Given the description of an element on the screen output the (x, y) to click on. 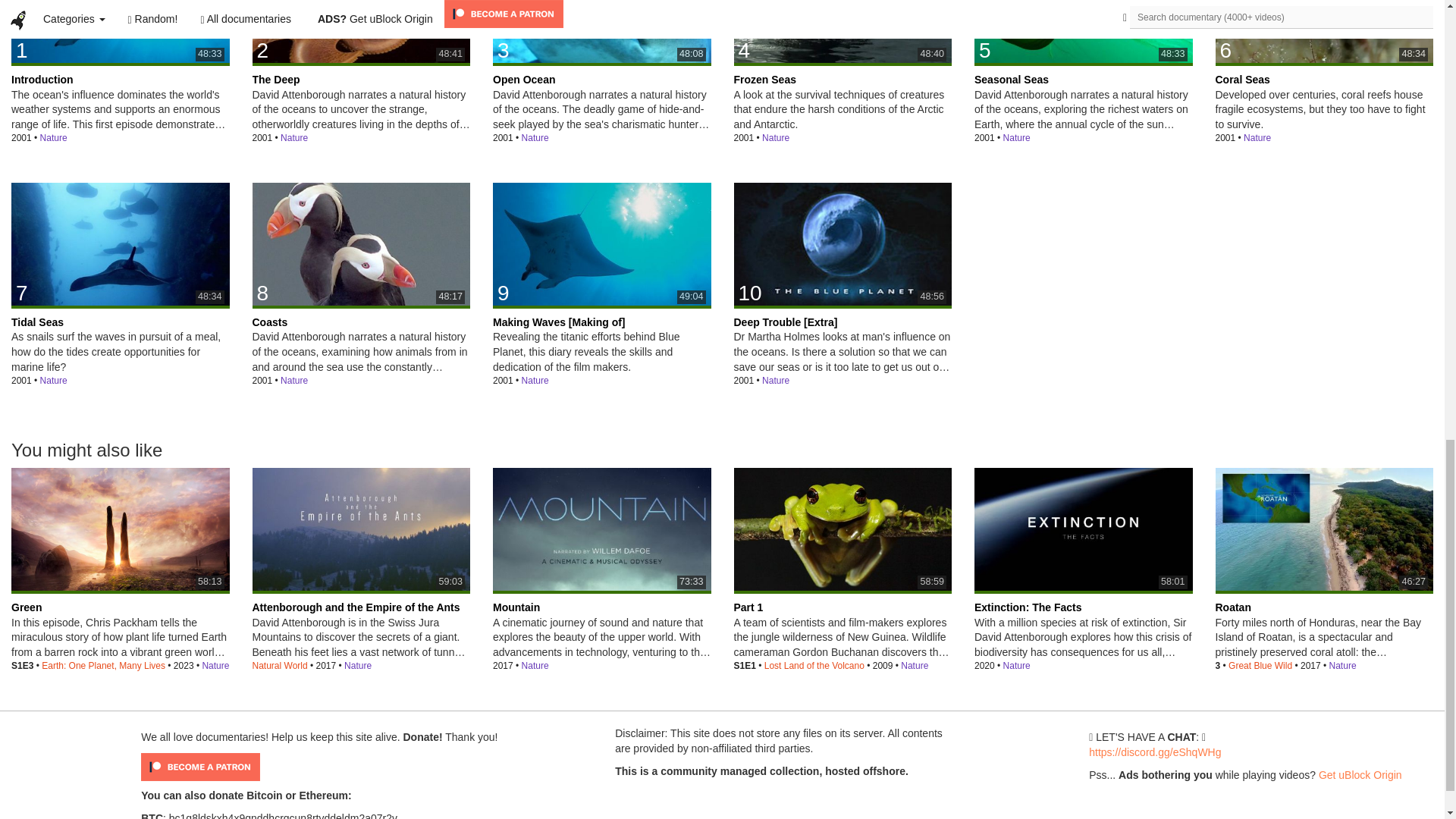
Coral Seas (1323, 31)
Nature (294, 137)
Introduction (120, 31)
Open Ocean (602, 31)
Seasonal Seas (1083, 31)
Nature (534, 137)
The Deep (360, 31)
Nature (1016, 137)
Nature (842, 31)
Nature (534, 137)
Nature (775, 137)
